Given the description of an element on the screen output the (x, y) to click on. 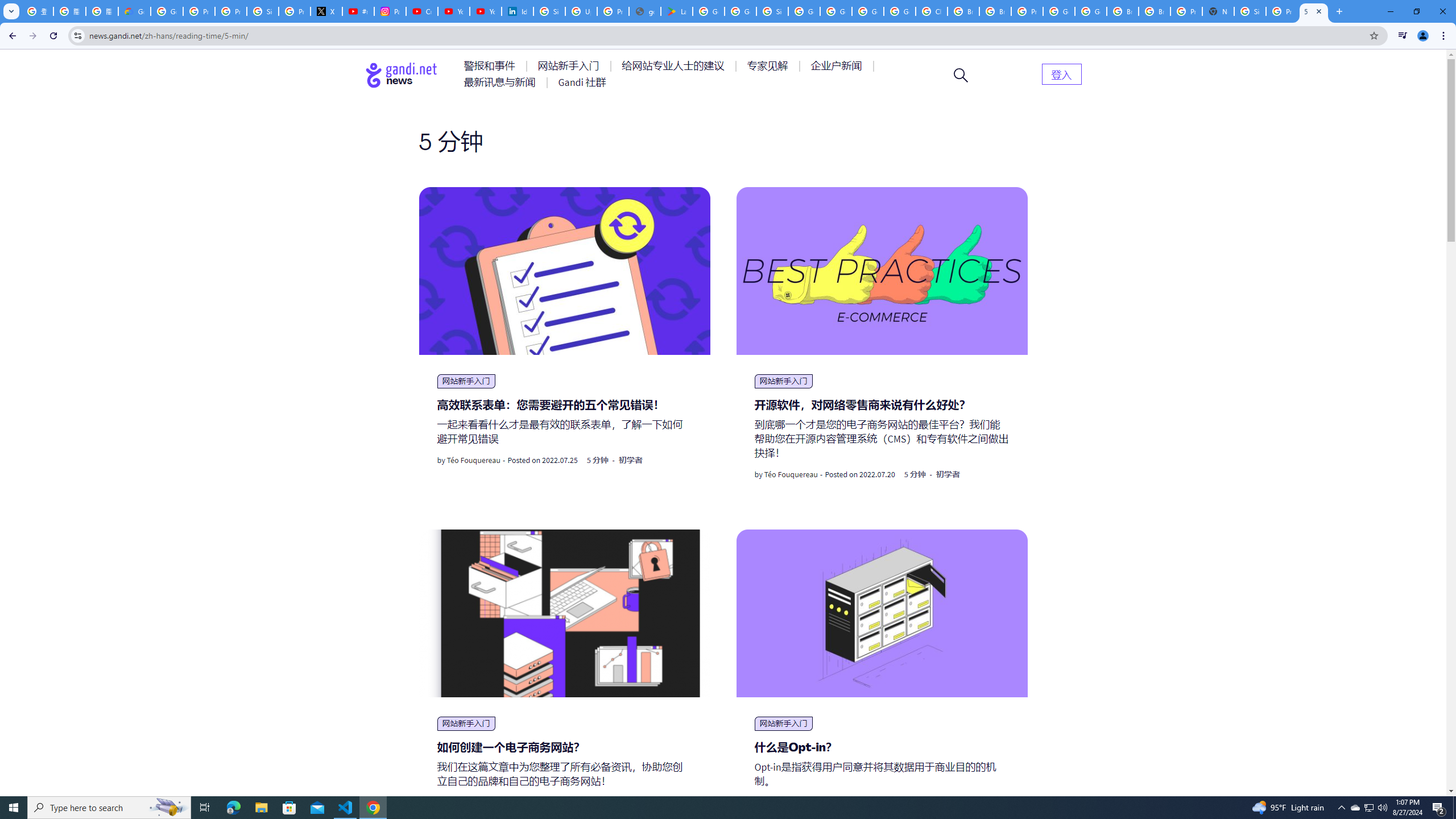
Google Workspace - Specific Terms (740, 11)
Browse Chrome as a guest - Computer - Google Chrome Help (1154, 11)
Google Cloud Platform (1059, 11)
Sign in - Google Accounts (1249, 11)
YouTube Culture & Trends - YouTube Top 10, 2021 (485, 11)
google_privacy_policy_en.pdf (644, 11)
